Given the description of an element on the screen output the (x, y) to click on. 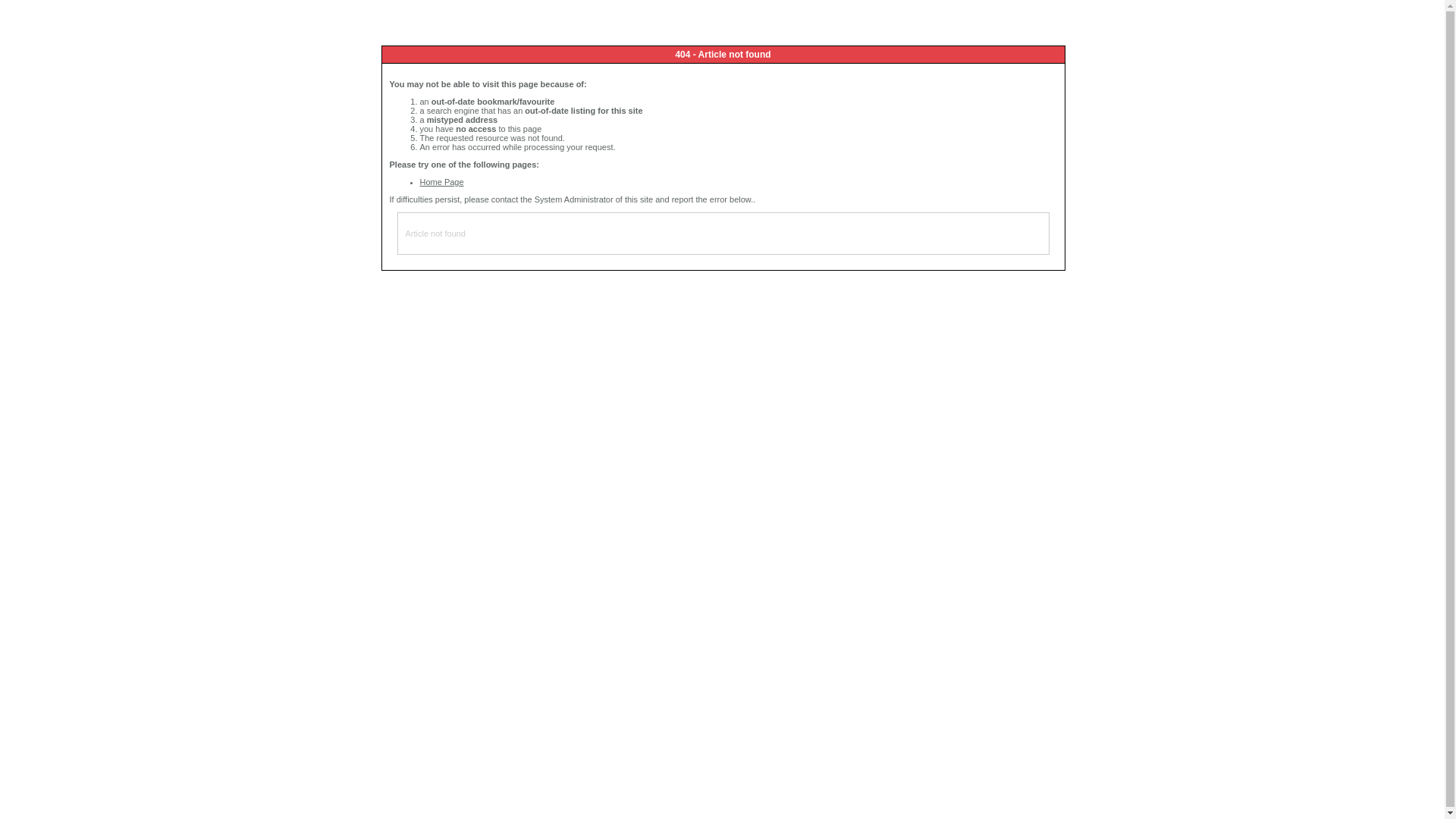
Home Page Element type: text (442, 181)
